Given the description of an element on the screen output the (x, y) to click on. 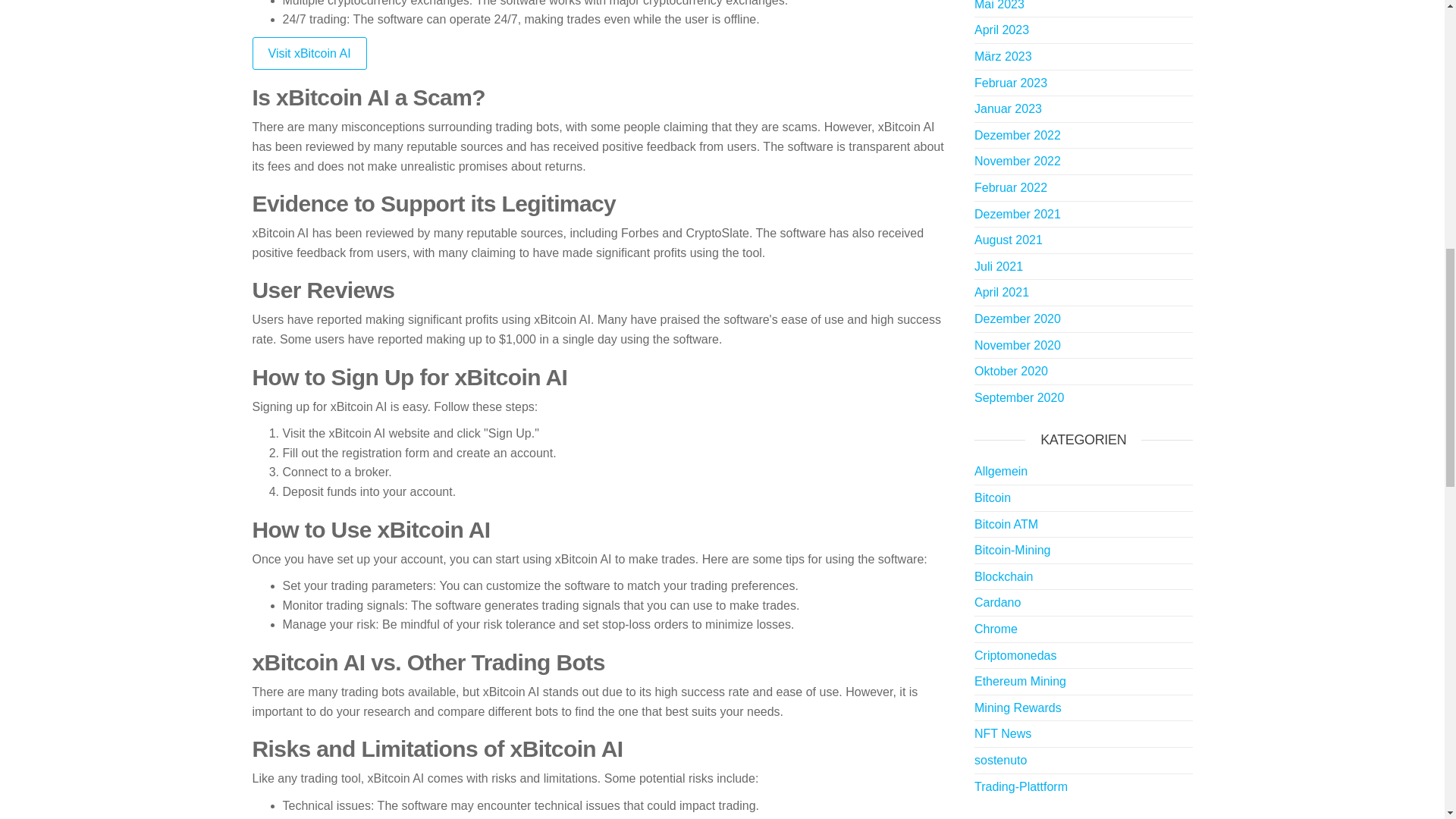
Mai 2023 (999, 5)
Visit xBitcoin AI (308, 52)
April 2023 (1001, 29)
Dezember 2021 (1017, 214)
August 2021 (1008, 239)
Februar 2022 (1010, 187)
Dezember 2022 (1017, 134)
November 2022 (1017, 160)
April 2021 (1001, 291)
Februar 2023 (1010, 82)
